Given the description of an element on the screen output the (x, y) to click on. 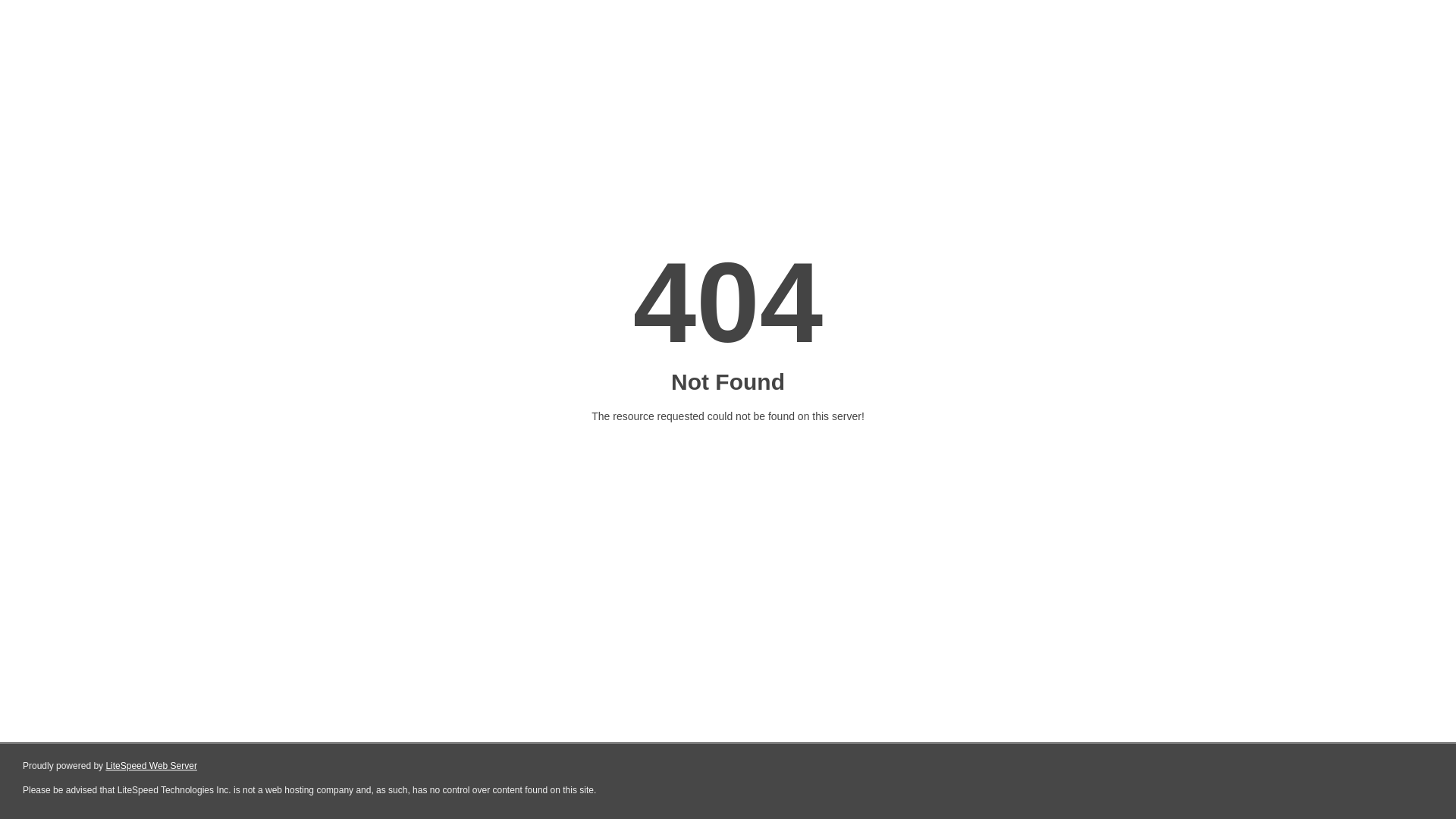
LiteSpeed Web Server Element type: text (151, 765)
